Given the description of an element on the screen output the (x, y) to click on. 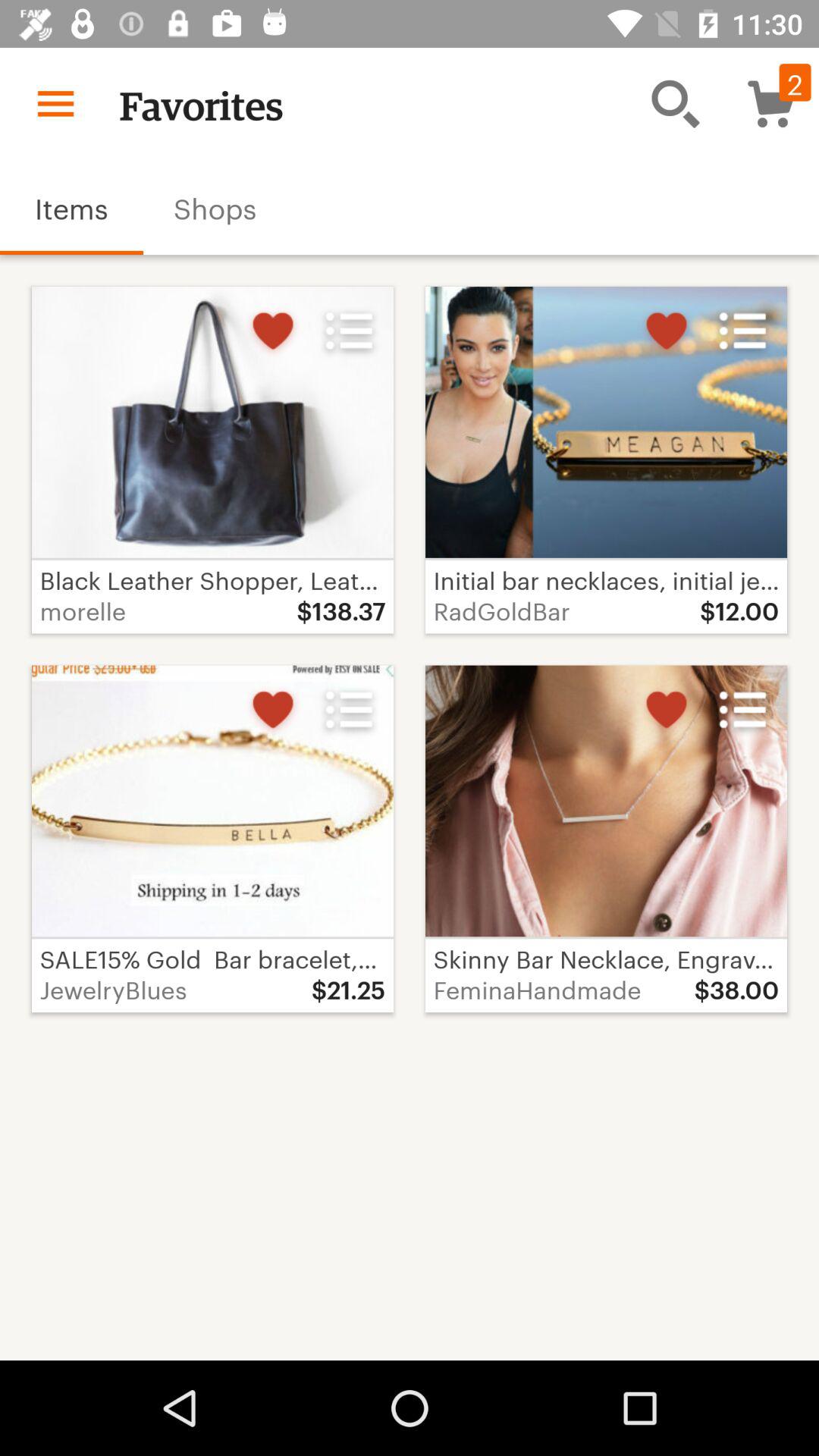
press the item above the items (55, 103)
